Given the description of an element on the screen output the (x, y) to click on. 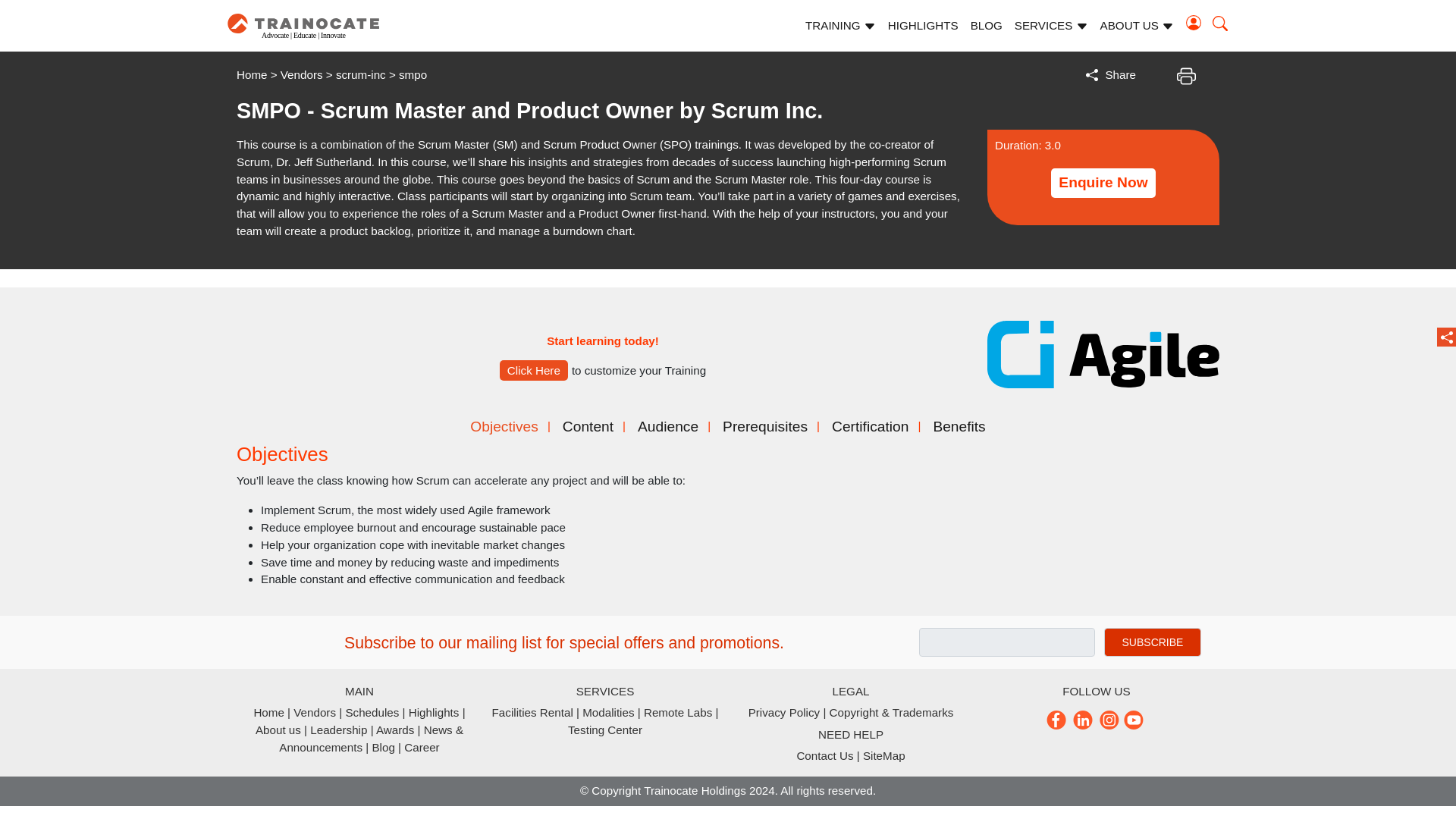
Please provide your email to subscribe. (1006, 642)
scrum-inc (360, 74)
Please provide your email to subscribe. (1152, 642)
insta-icon (1109, 719)
Home (251, 74)
youtube-icon (1135, 719)
SUBSCRIBE (1152, 642)
fb-icon (1057, 719)
Vendors (302, 74)
linkedin-icon (1082, 719)
TRAINING (840, 25)
